Given the description of an element on the screen output the (x, y) to click on. 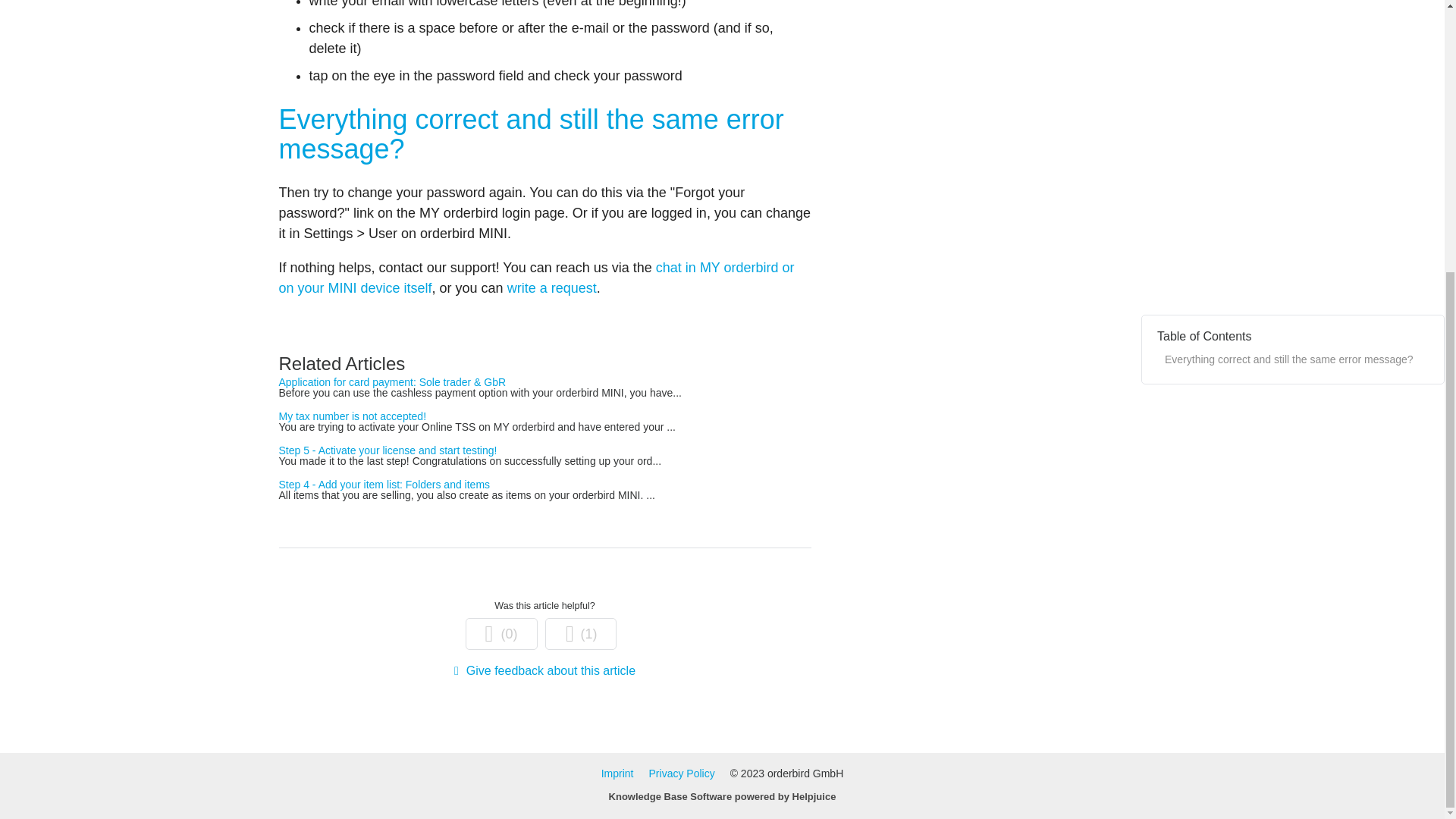
write a request (551, 287)
My tax number is not accepted! (352, 416)
Imprint (617, 773)
Privacy Policy (681, 773)
Knowledge Base Software powered by Helpjuice (721, 796)
Step 5 - Activate your license and start testing! (388, 450)
Step 4 - Add your item list: Folders and items (384, 484)
chat in MY orderbird or on your MINI device itself (536, 277)
Give feedback about this article (544, 671)
